Given the description of an element on the screen output the (x, y) to click on. 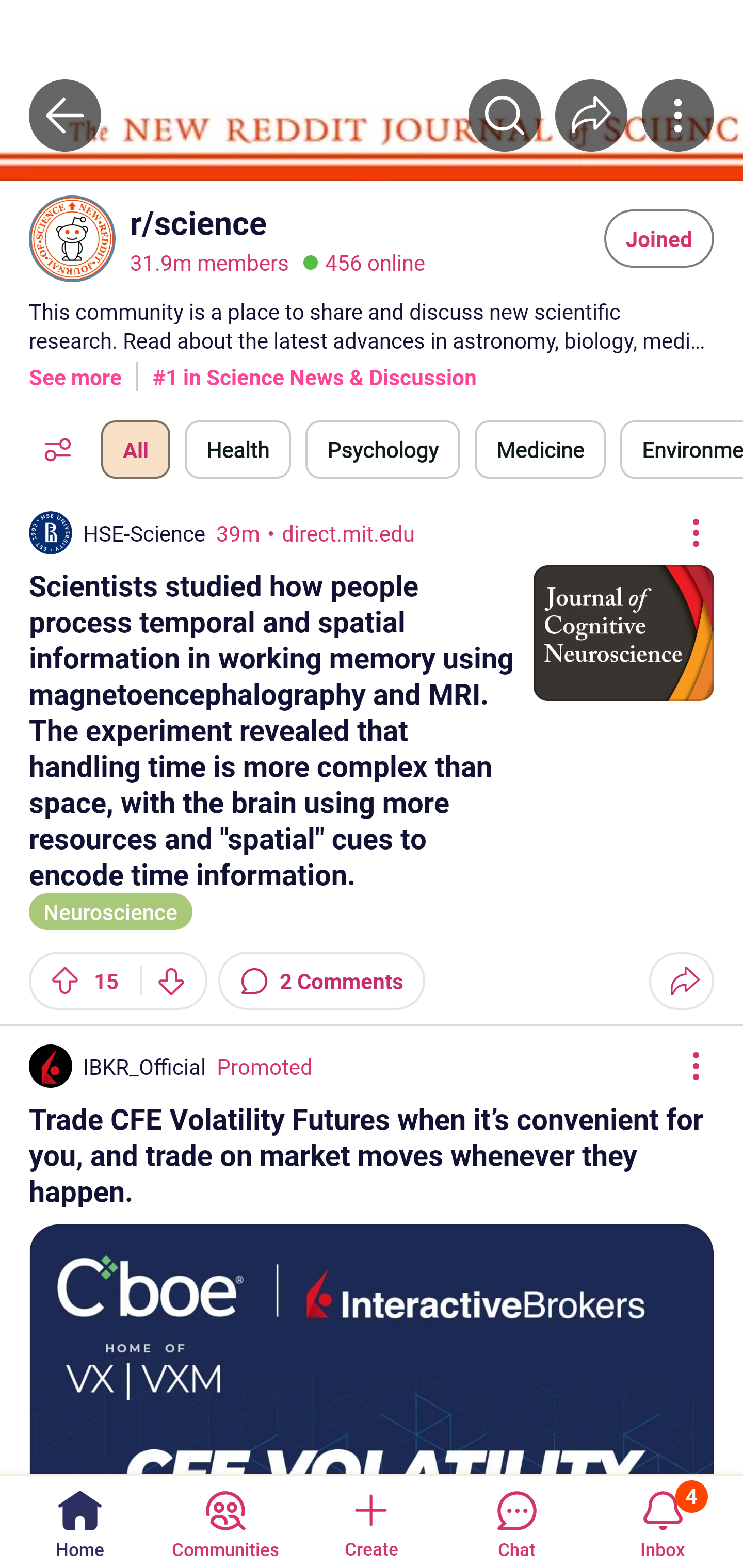
Back (64, 115)
Search r/﻿science (504, 115)
Share r/﻿science (591, 115)
More community actions (677, 115)
Feed Options (53, 449)
All (135, 449)
Health (238, 449)
Psychology (382, 449)
Medicine (539, 449)
Environment (681, 449)
Neuroscience (110, 909)
Home (80, 1520)
Communities (225, 1520)
Create a post Create (370, 1520)
Chat (516, 1520)
Inbox, has 4 notifications 4 Inbox (662, 1520)
